Given the description of an element on the screen output the (x, y) to click on. 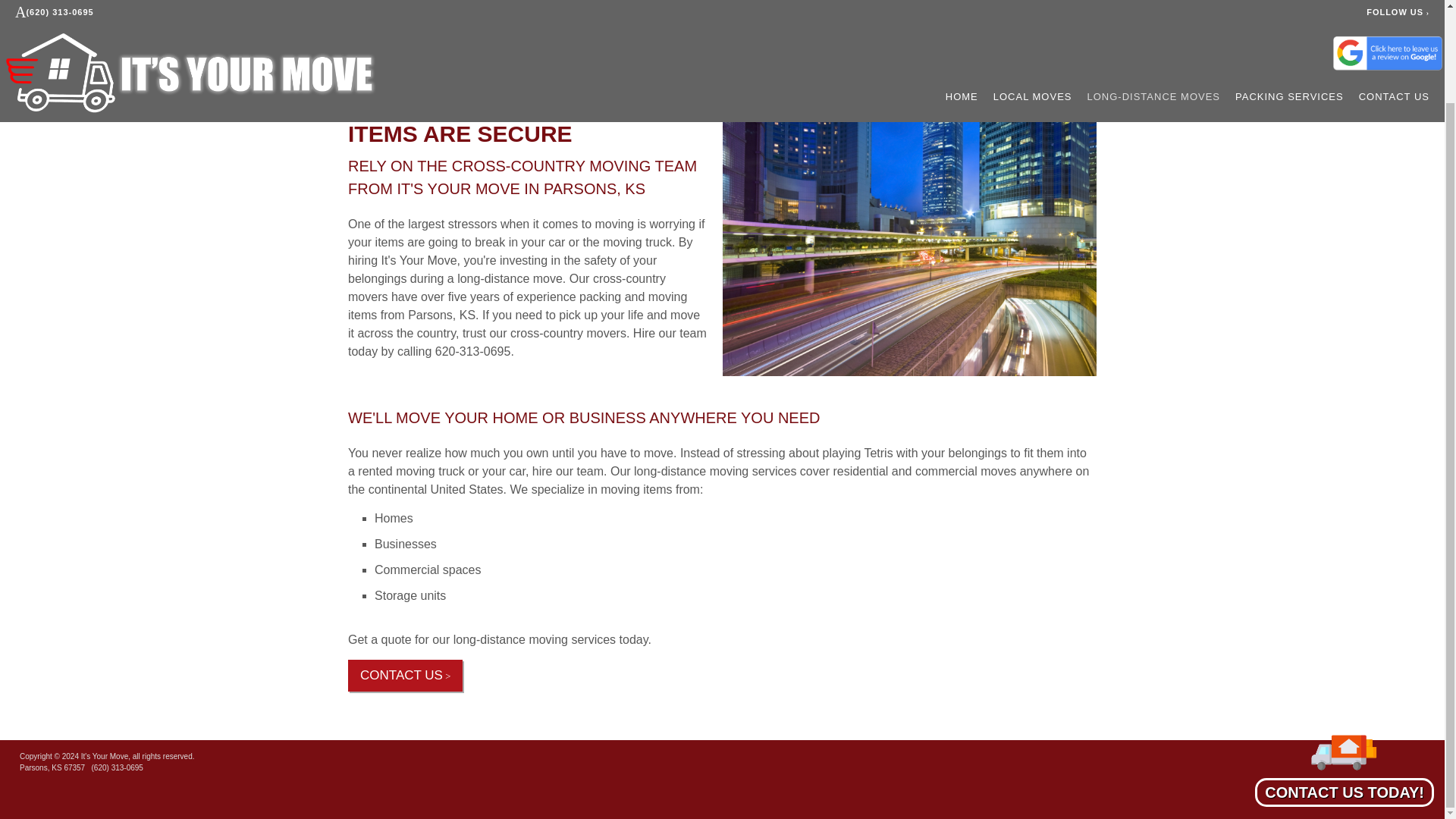
CONTACT US (405, 675)
CONTACT US TODAY! (1344, 678)
